Given the description of an element on the screen output the (x, y) to click on. 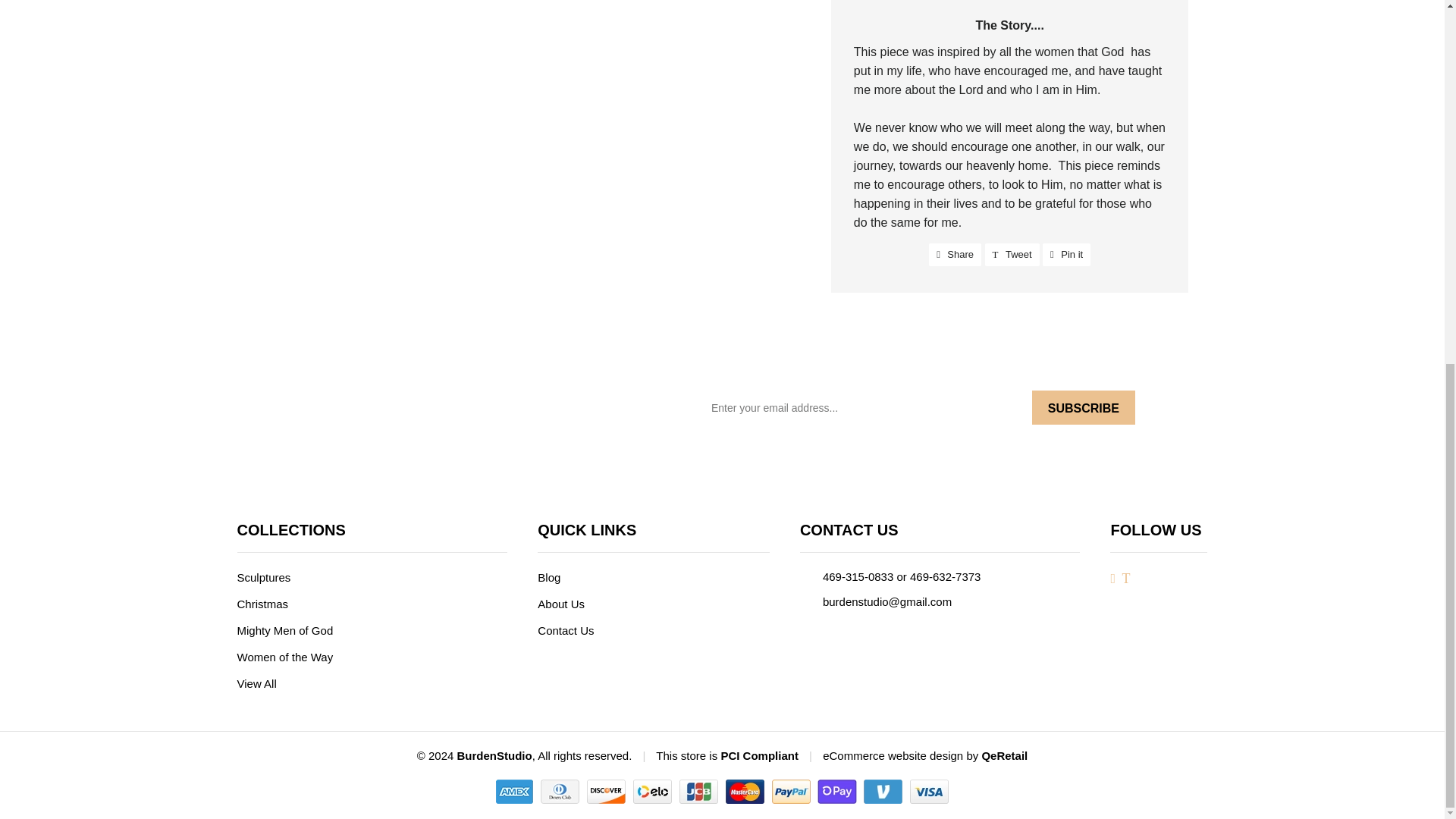
Tweet on Twitter (954, 254)
Sculptures (1011, 254)
Pin on Pinterest (262, 576)
Share on Facebook (1066, 254)
Christmas (1011, 254)
SUBSCRIBE (954, 254)
